Given the description of an element on the screen output the (x, y) to click on. 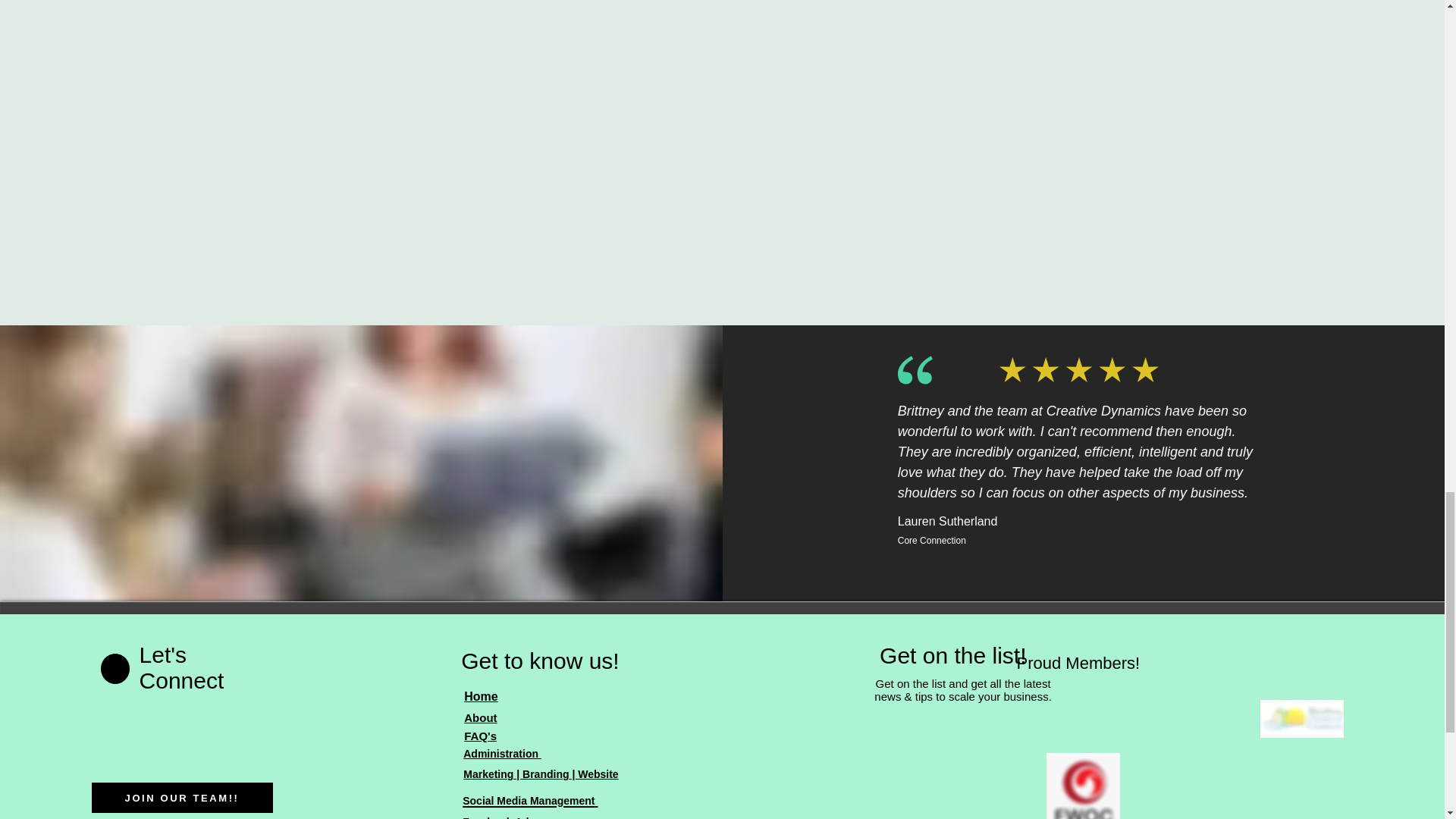
Home (480, 696)
JOIN OUR TEAM!! (182, 797)
About (480, 717)
FAQ's (480, 735)
